Given the description of an element on the screen output the (x, y) to click on. 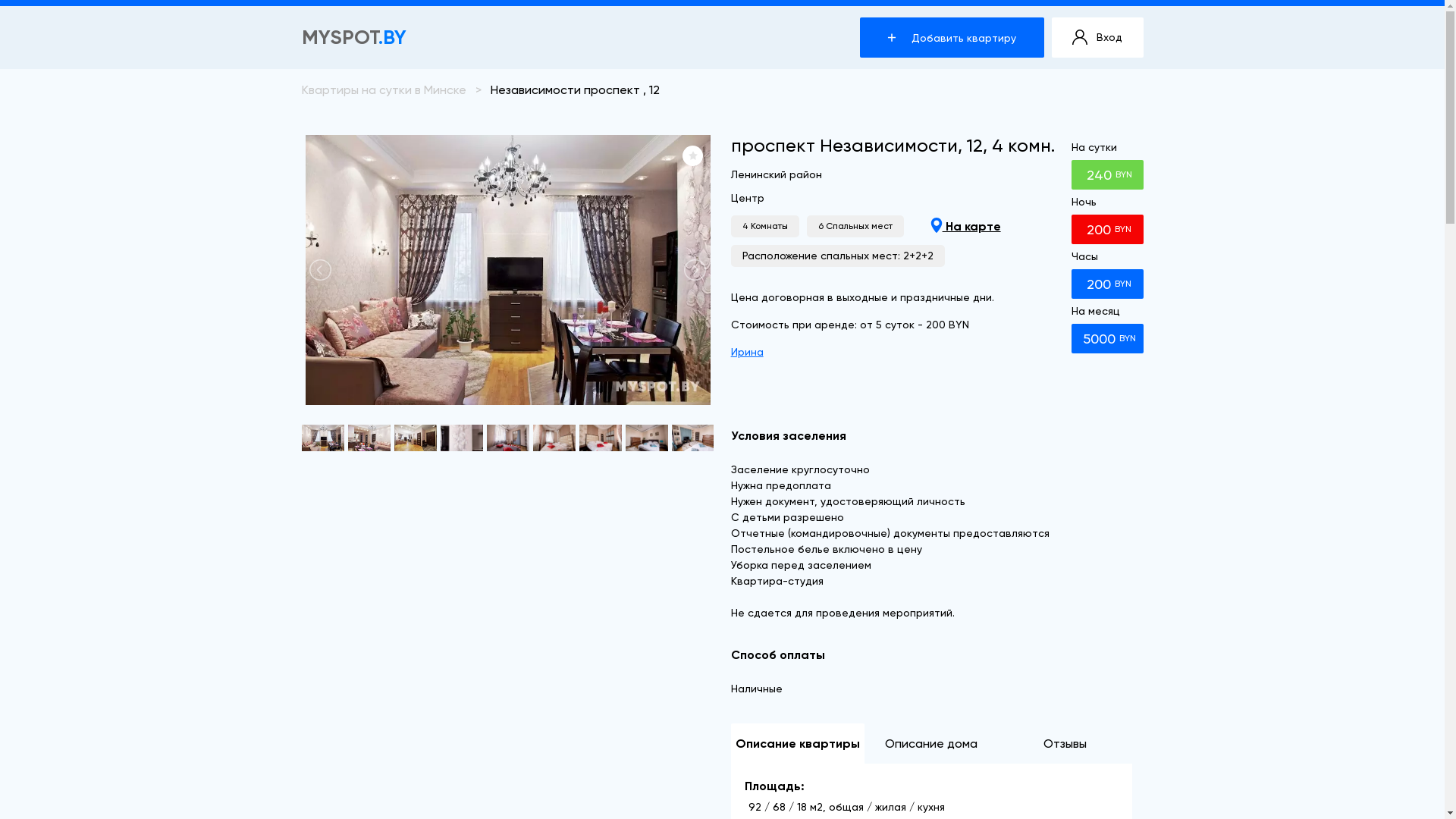
MYSPOT.BY Element type: text (353, 37)
